Given the description of an element on the screen output the (x, y) to click on. 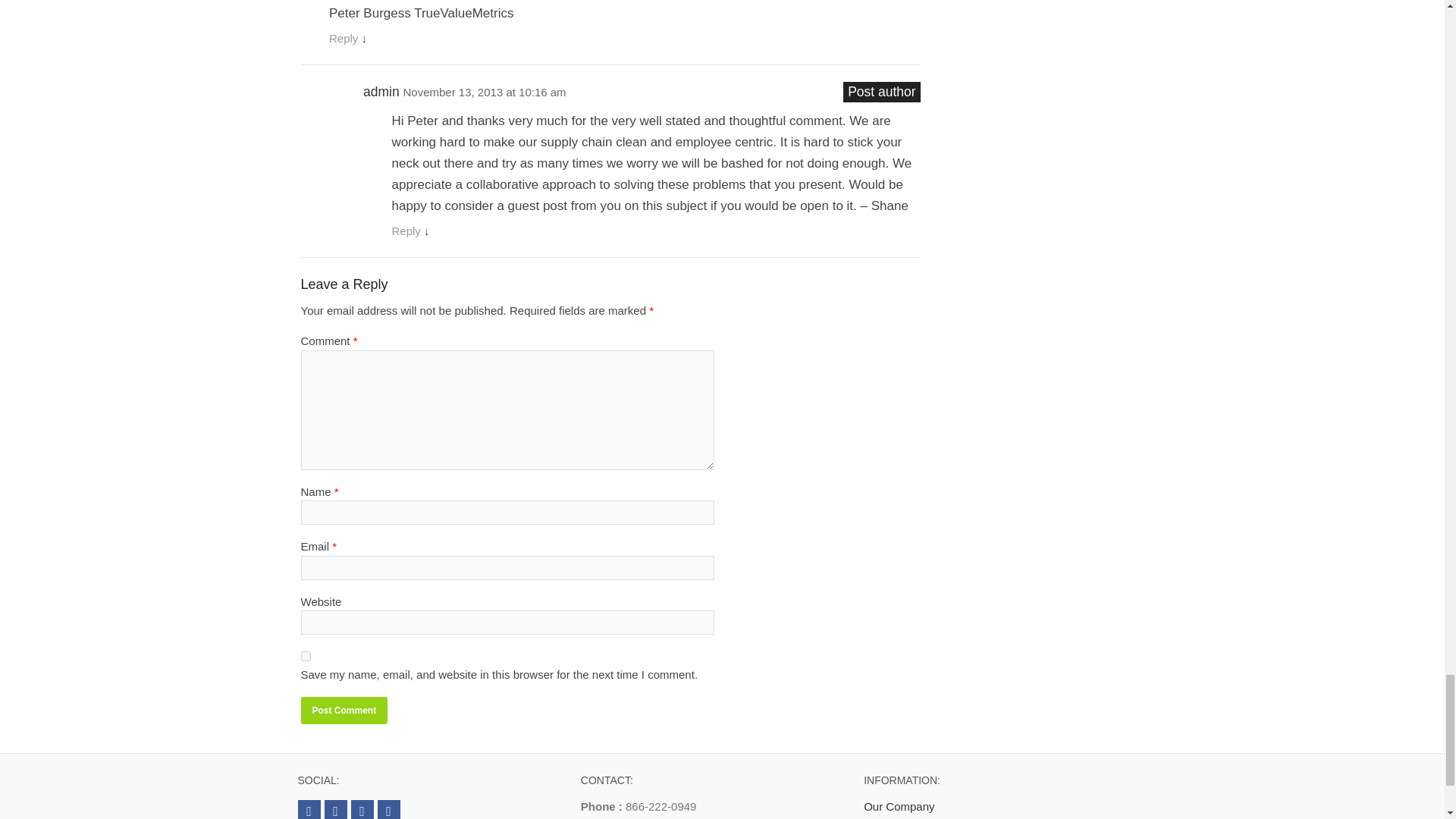
Twitter (308, 809)
yes (304, 655)
Post Comment (343, 709)
